Given the description of an element on the screen output the (x, y) to click on. 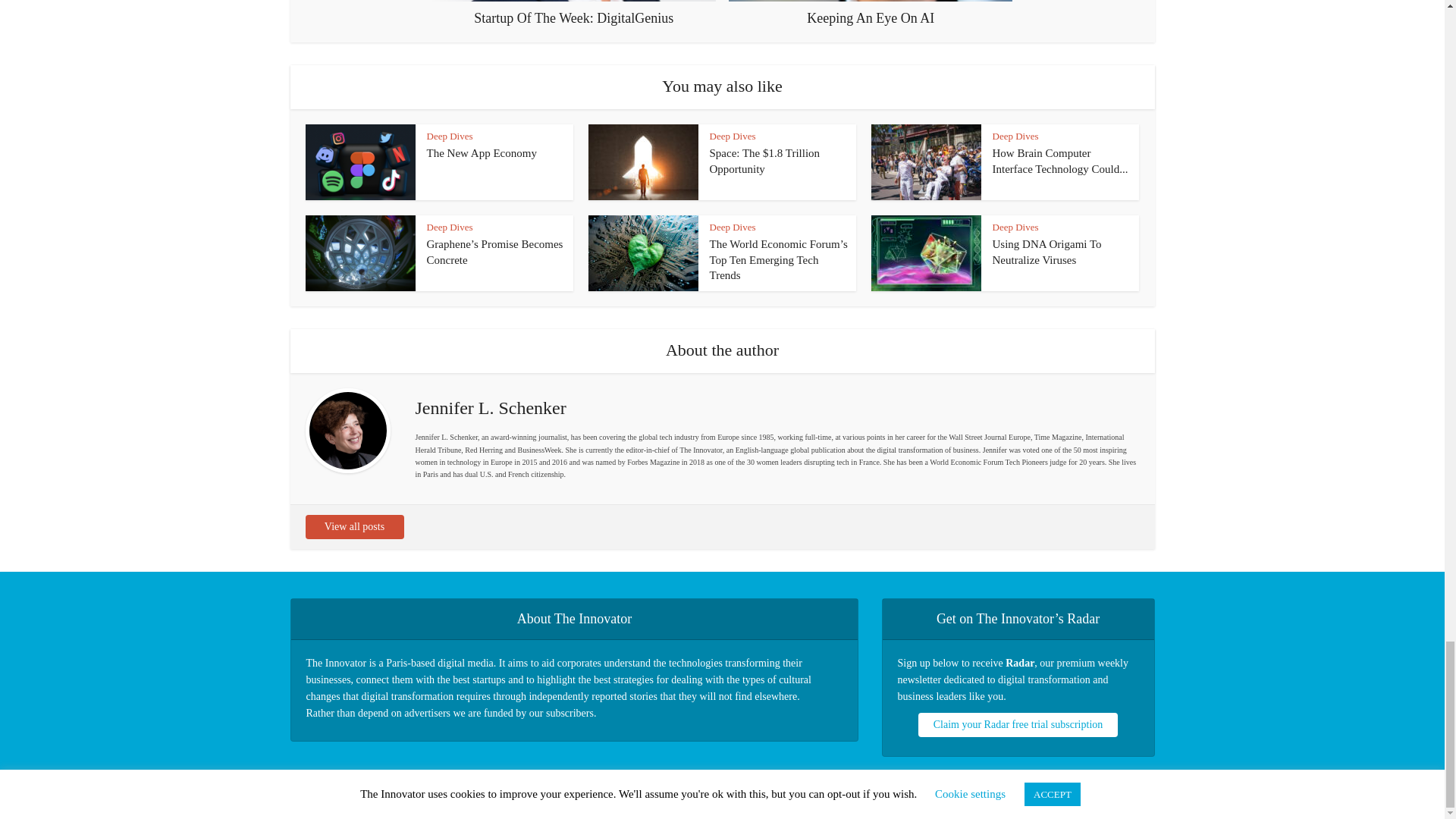
Using DNA Origami To Neutralize Viruses (1045, 251)
The New App Economy (480, 152)
